Given the description of an element on the screen output the (x, y) to click on. 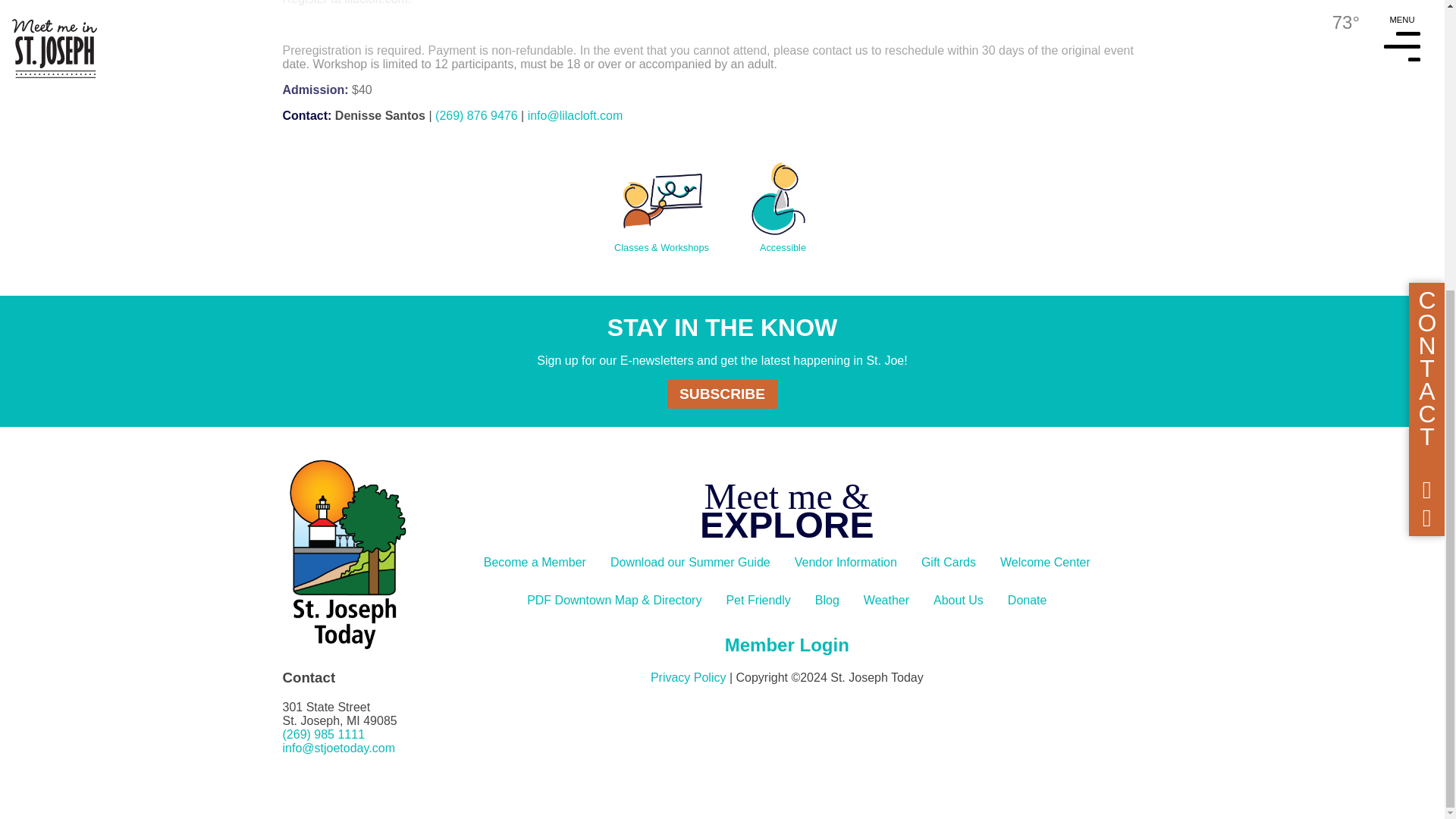
Accessible (783, 199)
